Given the description of an element on the screen output the (x, y) to click on. 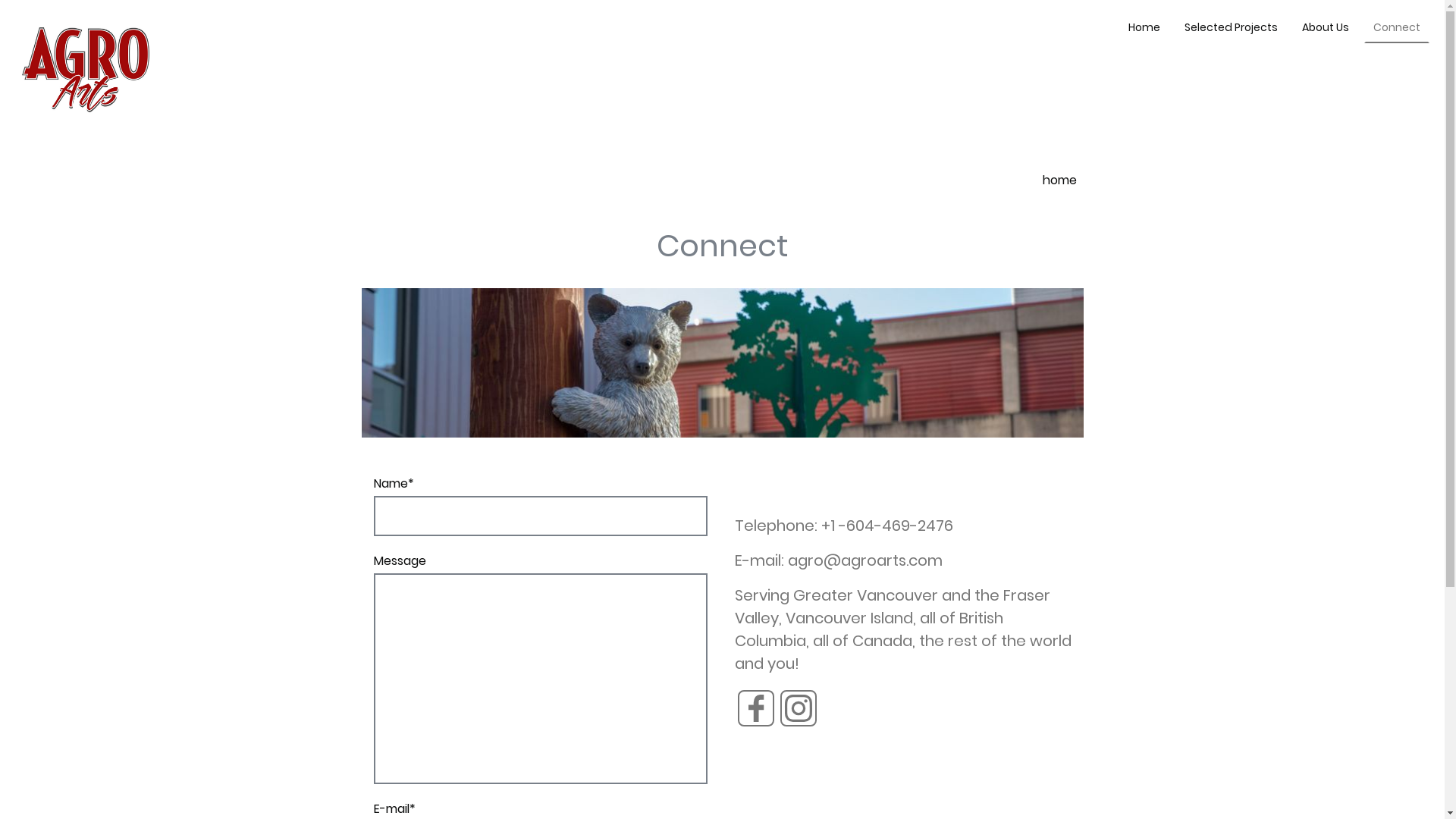
Home Element type: text (1143, 27)
About Us Element type: text (1325, 27)
home Element type: text (1059, 179)
Connect Element type: text (1396, 27)
Selected Projects Element type: text (1230, 27)
